Given the description of an element on the screen output the (x, y) to click on. 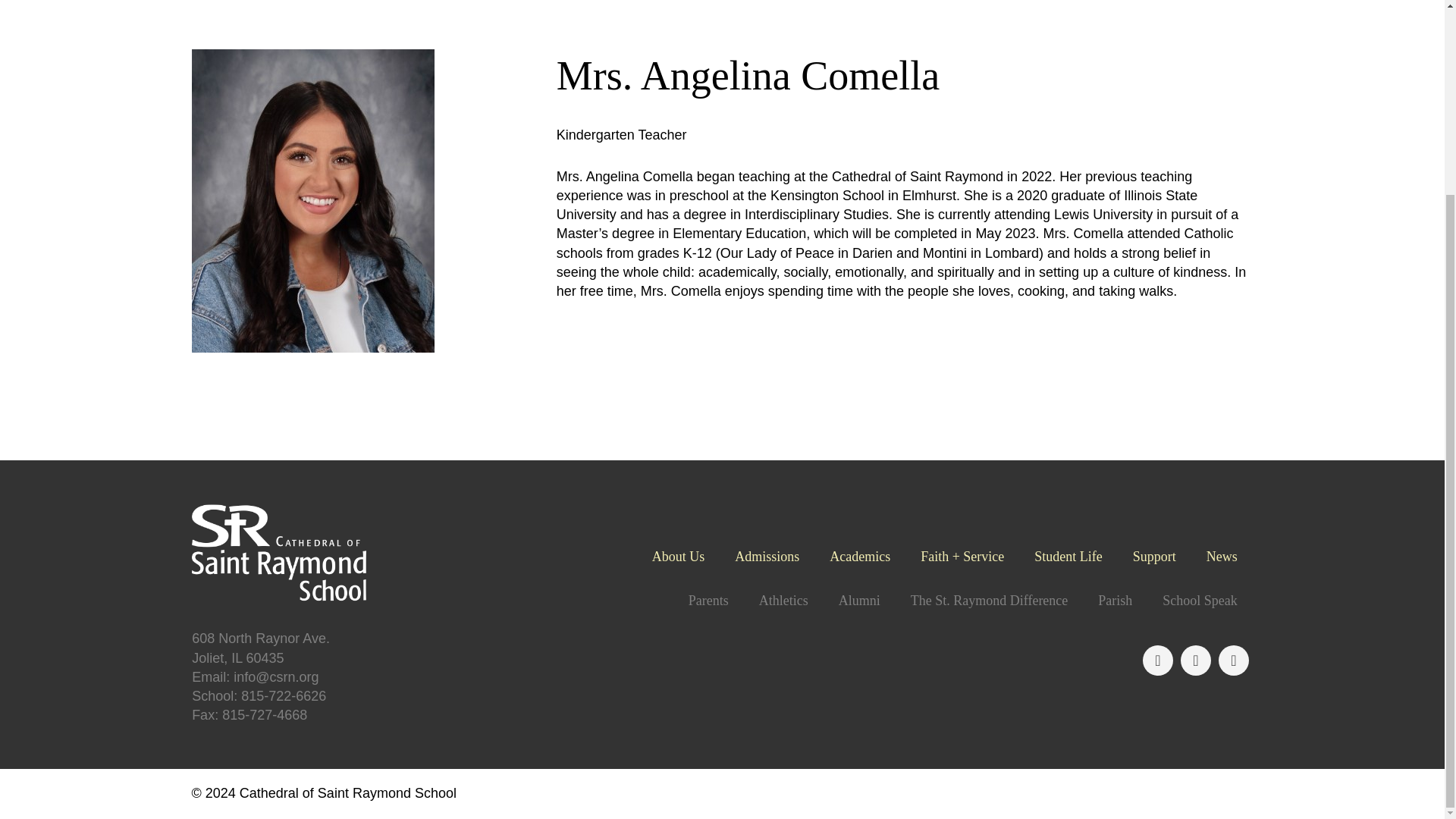
Facebook (1157, 660)
Instagram (1195, 660)
Youtube (1233, 660)
